Given the description of an element on the screen output the (x, y) to click on. 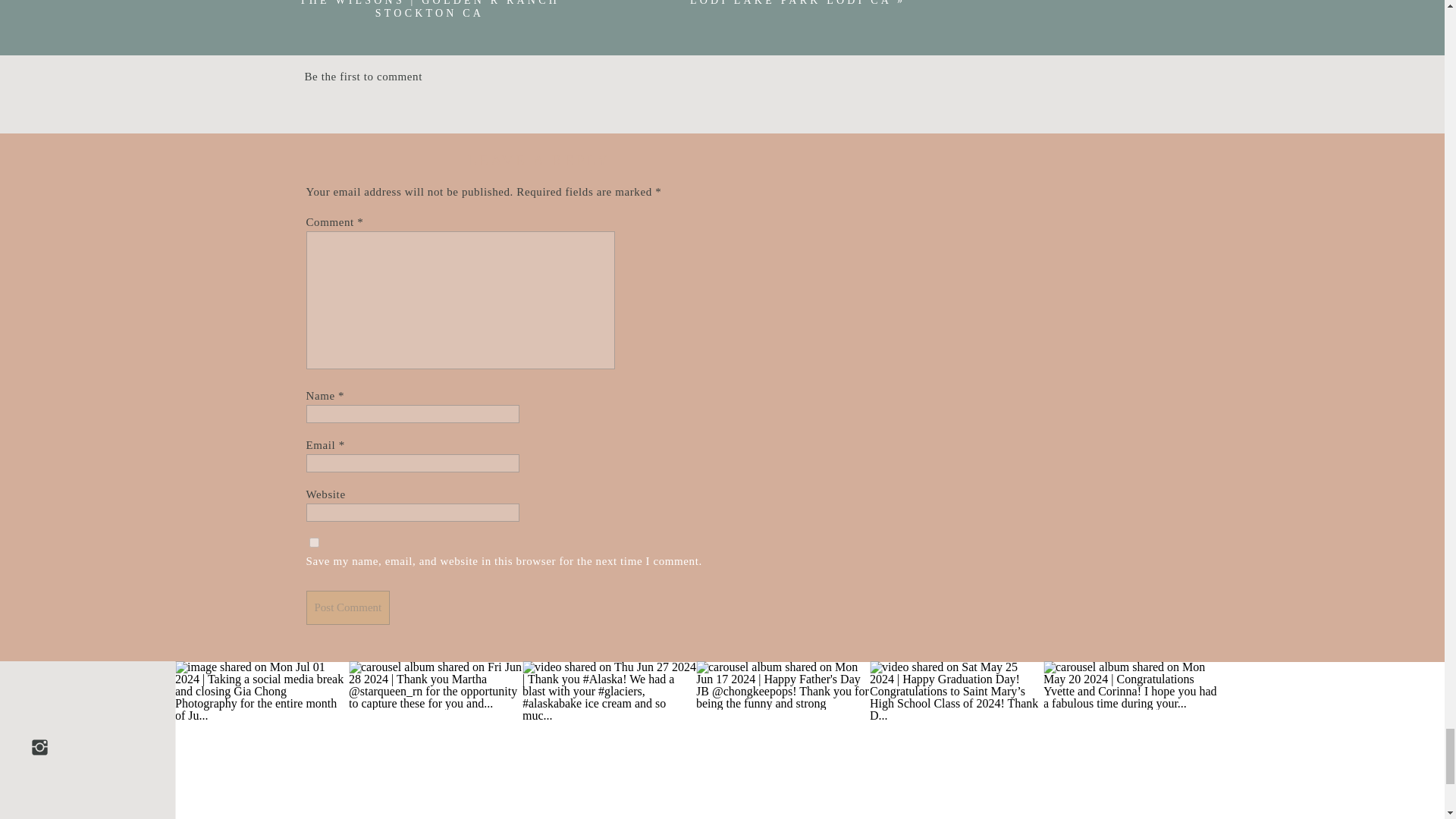
Post Comment (347, 607)
Be the first to comment (363, 76)
Post Comment (347, 607)
yes (313, 542)
